Given the description of an element on the screen output the (x, y) to click on. 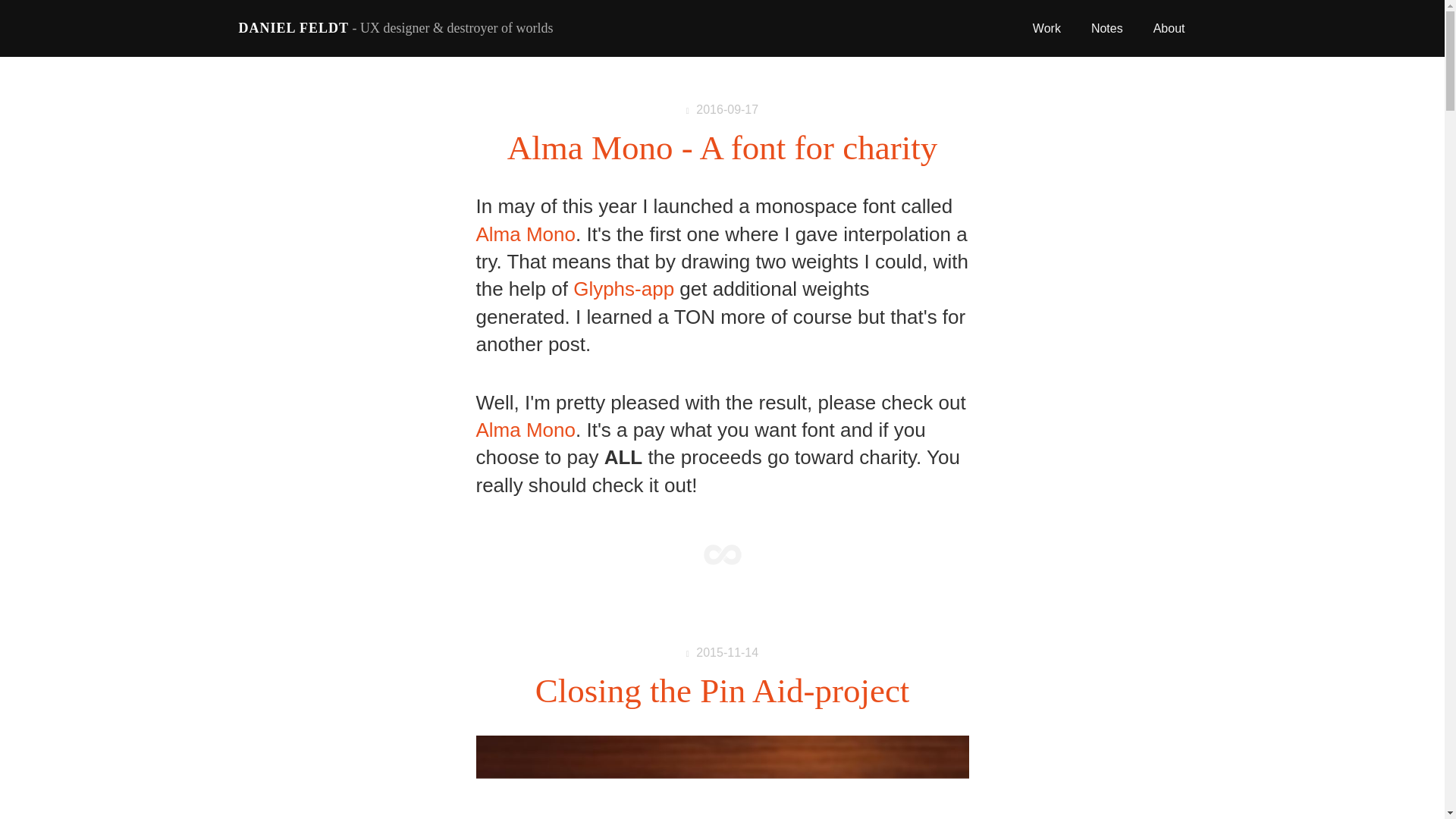
Work (1046, 28)
Closing the Pin Aid-project (722, 690)
Alma Mono (526, 233)
About (1169, 28)
Notes (1106, 28)
Alma Mono (526, 429)
Alma Mono - A font for charity (721, 147)
DANIEL FELDT (293, 28)
Glyphs-app (623, 288)
